Given the description of an element on the screen output the (x, y) to click on. 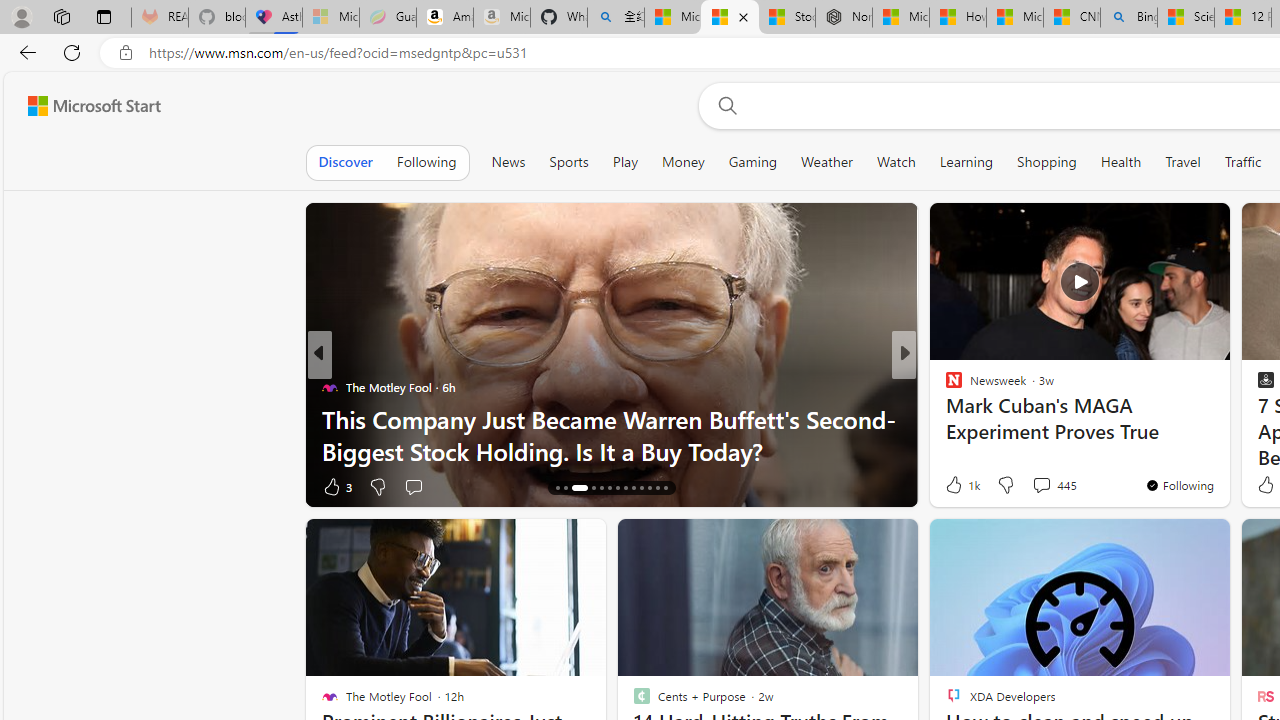
109 Like (959, 486)
Bing (1128, 17)
430 Like (959, 486)
AutomationID: tab-25 (656, 487)
View comments 2 Comment (1041, 486)
How I Got Rid of Microsoft Edge's Unnecessary Features (957, 17)
AutomationID: tab-15 (564, 487)
350 Like (959, 486)
AutomationID: tab-26 (664, 487)
42 Like (956, 486)
Traffic (1243, 161)
